Given the description of an element on the screen output the (x, y) to click on. 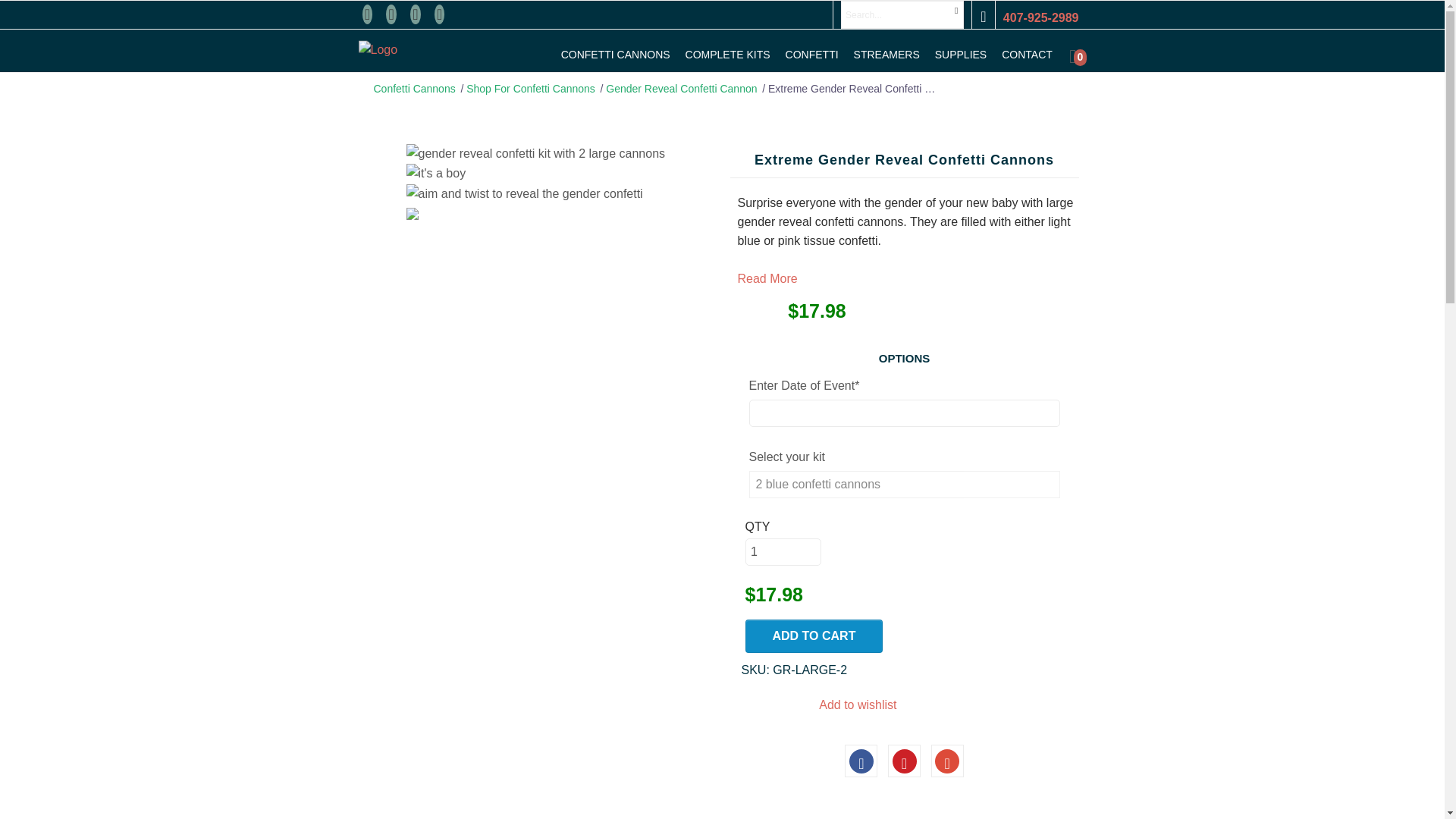
CONFETTI CANNONS (614, 54)
Pin (904, 760)
Go to your account (983, 16)
CONFETTI (812, 54)
Share (860, 760)
CONTACT (1026, 54)
1 (782, 551)
STREAMERS (886, 54)
COMPLETE KITS (727, 54)
407-925-2989 (1040, 17)
